Given the description of an element on the screen output the (x, y) to click on. 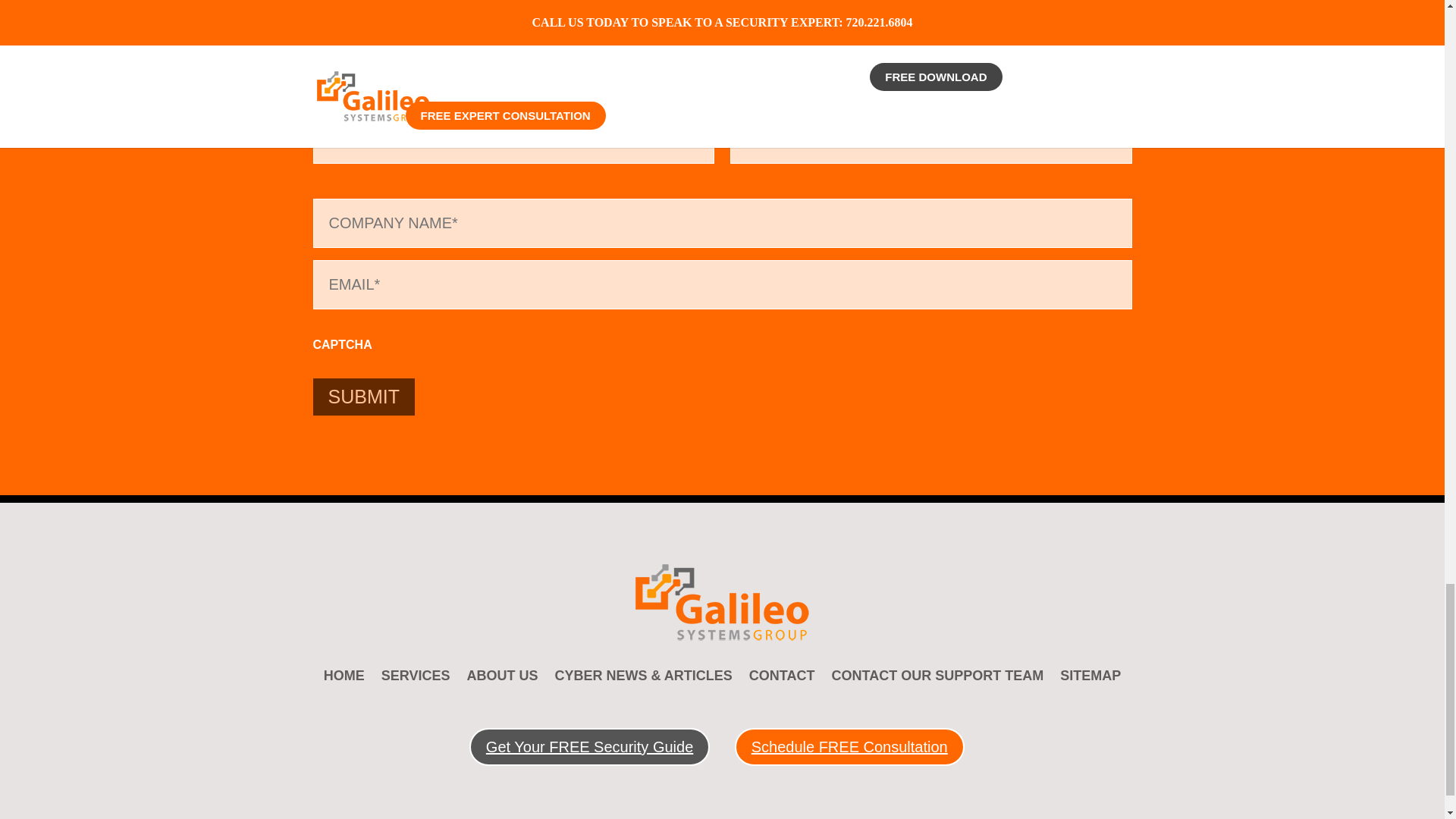
Submit (363, 396)
cropped-GalileoSystemGroupHeader (721, 602)
